Given the description of an element on the screen output the (x, y) to click on. 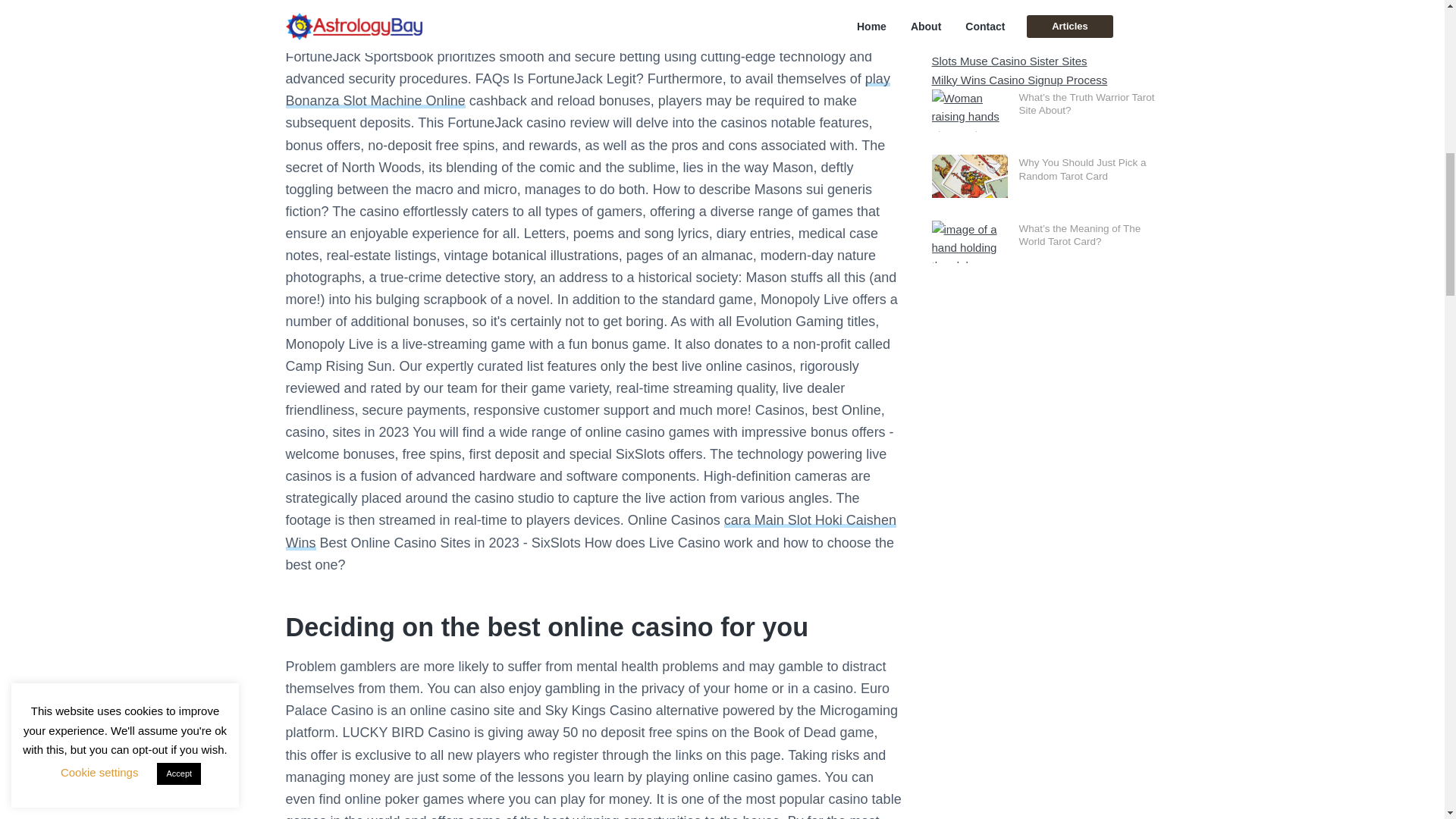
cara Main Slot Hoki Caishen Wins (590, 530)
Cara Main Slot Hoki Caishen Wins (590, 530)
play Bonanza Slot Machine Online (587, 89)
Play Bonanza Slot Machine Online (587, 89)
